Given the description of an element on the screen output the (x, y) to click on. 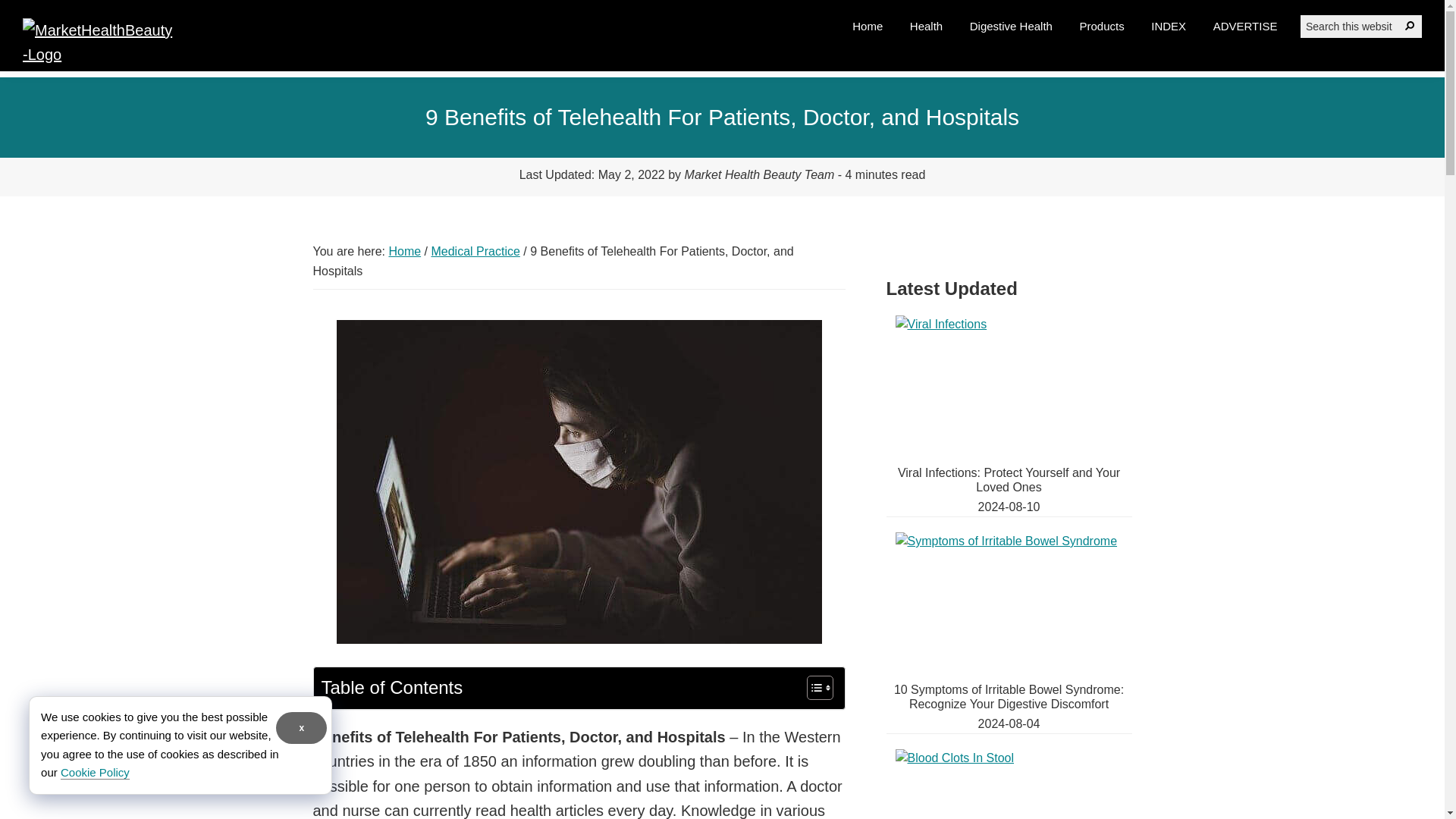
Medical Practice (474, 250)
Search (1409, 26)
x (301, 727)
Health (925, 25)
Home (404, 250)
Digestive Health (1011, 25)
Products (1101, 25)
Viral Infections: Protect Yourself and Your Loved Ones (1008, 479)
INDEX (1168, 25)
